Given the description of an element on the screen output the (x, y) to click on. 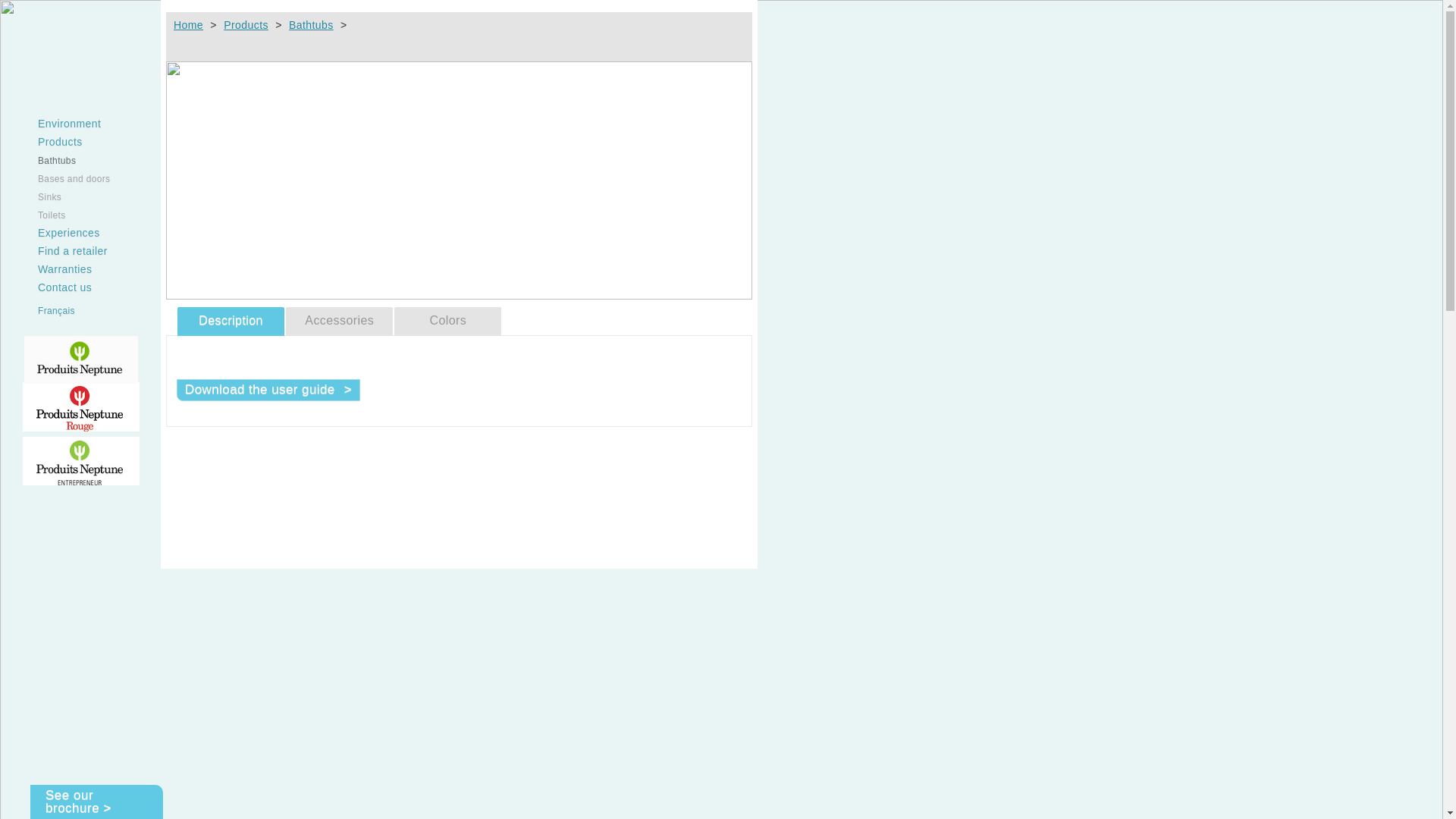
Accessories Element type: text (338, 321)
Toilets Element type: text (43, 215)
Colors Element type: text (447, 321)
Sinks Element type: text (41, 196)
Products Element type: text (245, 24)
Experiences Element type: text (61, 232)
Products Element type: text (52, 141)
Description Element type: text (230, 321)
Warranties Element type: text (56, 269)
Contact us Element type: text (56, 287)
Find a retailer Element type: text (64, 250)
Environment Element type: text (61, 123)
Home Element type: text (188, 24)
Bathtubs Element type: text (48, 160)
Bases and doors Element type: text (65, 178)
Download the user guide> Element type: text (268, 390)
Bathtubs Element type: text (311, 24)
